Given the description of an element on the screen output the (x, y) to click on. 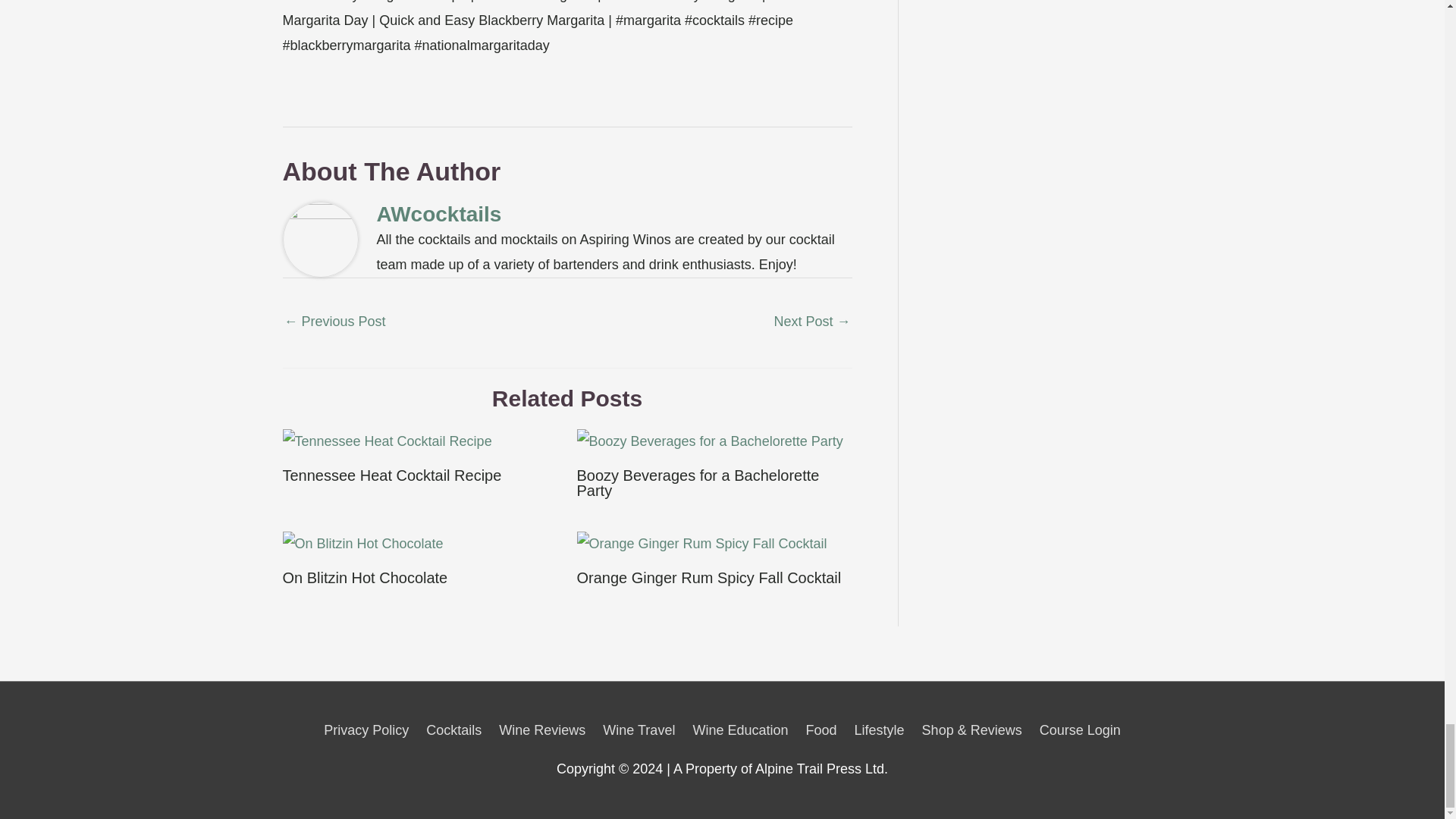
Orange Cocktail Recipes (811, 323)
Bourbon Apple Bars Recipe (334, 323)
